Given the description of an element on the screen output the (x, y) to click on. 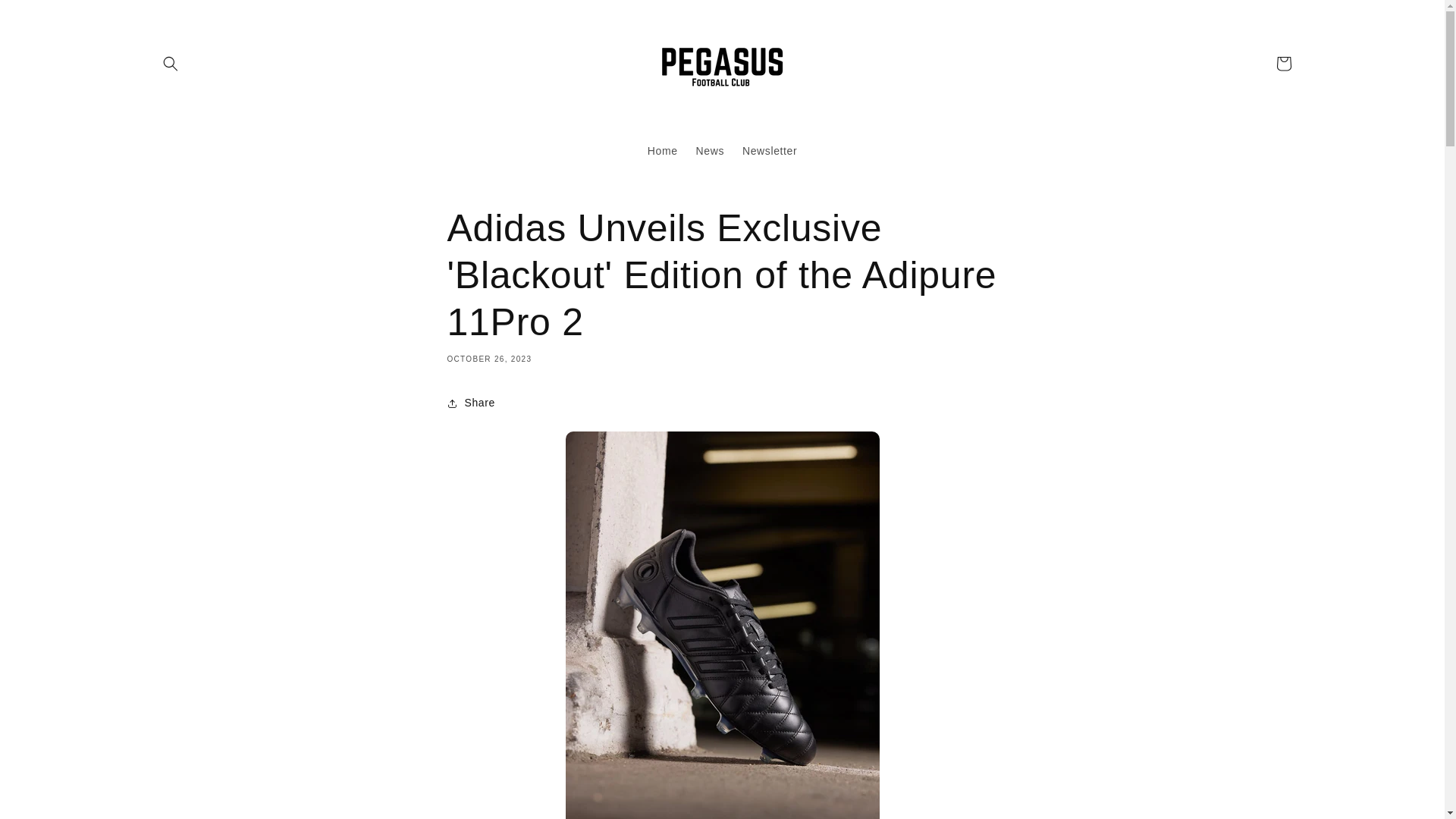
Cart (1283, 63)
Skip to content (45, 17)
Newsletter (769, 151)
News (710, 151)
Home (663, 151)
